Given the description of an element on the screen output the (x, y) to click on. 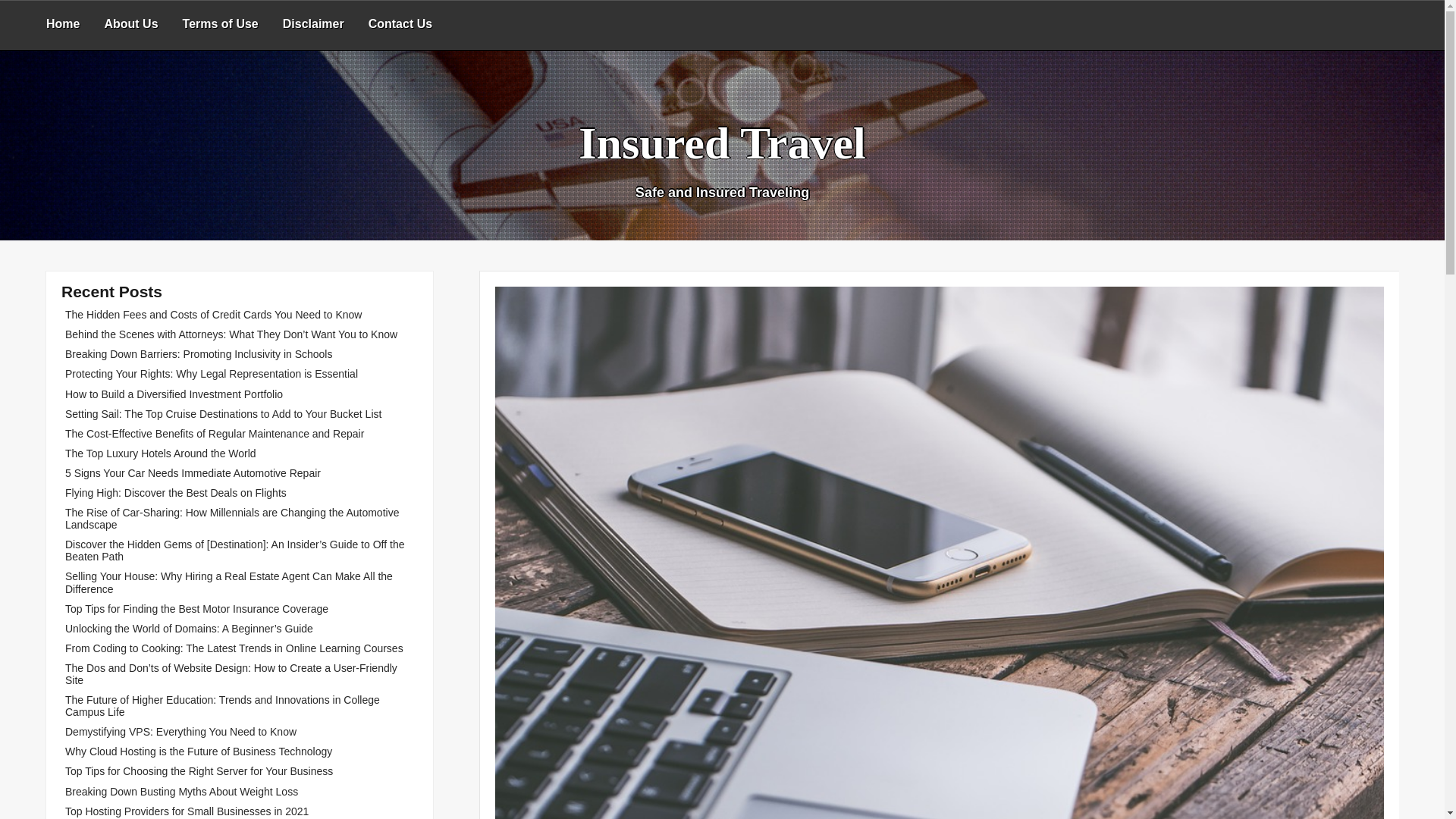
Flying High: Discover the Best Deals on Flights (175, 492)
Terms of Use (220, 24)
Insured Travel (721, 142)
Contact Us (400, 24)
How to Build a Diversified Investment Portfolio (173, 394)
About Us (130, 24)
The Top Luxury Hotels Around the World (160, 453)
Breaking Down Barriers: Promoting Inclusivity in Schools (198, 354)
Disclaimer (313, 24)
The Hidden Fees and Costs of Credit Cards You Need to Know (213, 314)
Home (62, 24)
